Given the description of an element on the screen output the (x, y) to click on. 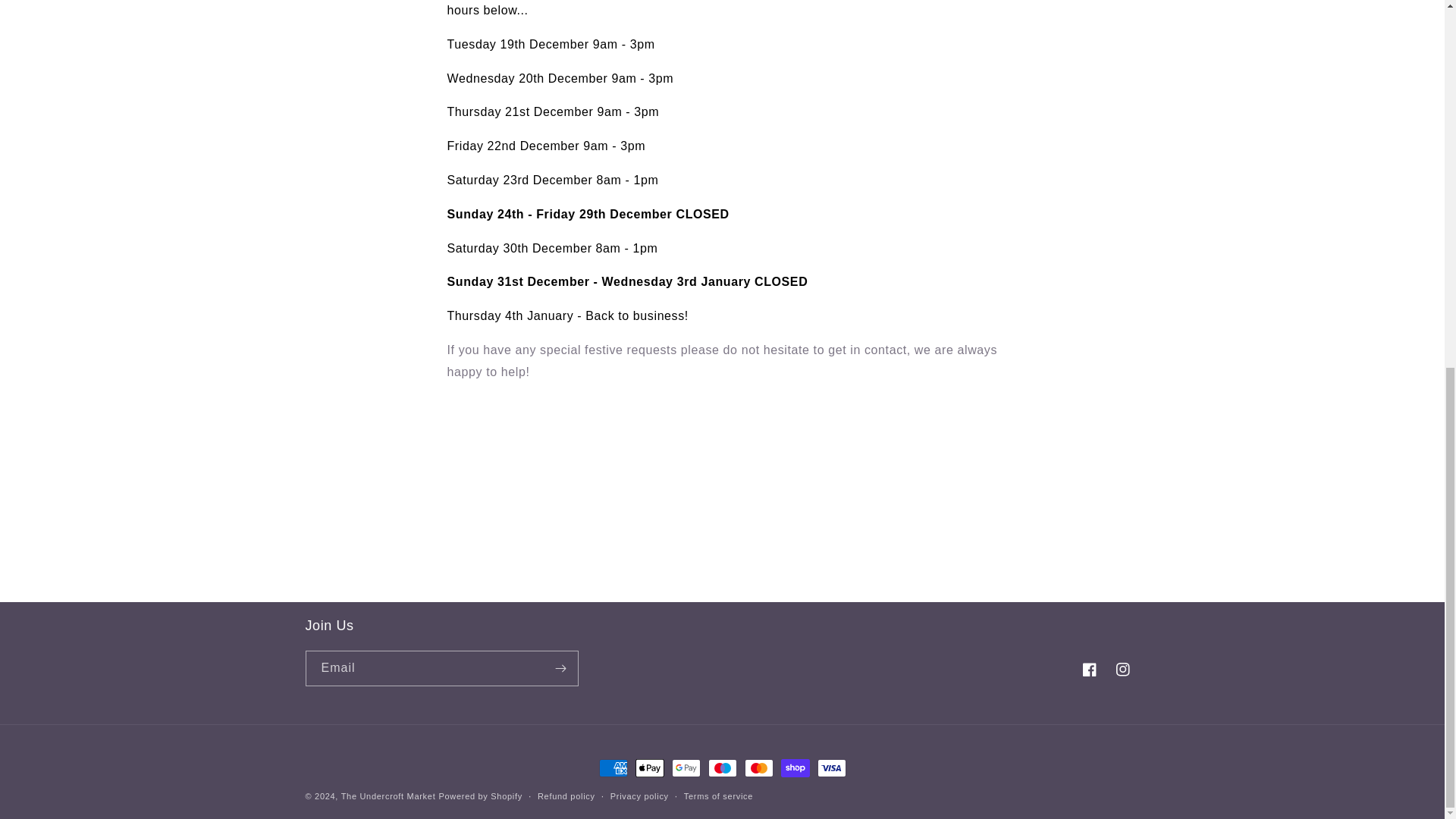
Privacy policy (639, 796)
Powered by Shopify (479, 795)
Facebook (1088, 669)
Terms of service (718, 796)
Refund policy (566, 796)
The Undercroft Market (387, 795)
Instagram (1121, 669)
